Given the description of an element on the screen output the (x, y) to click on. 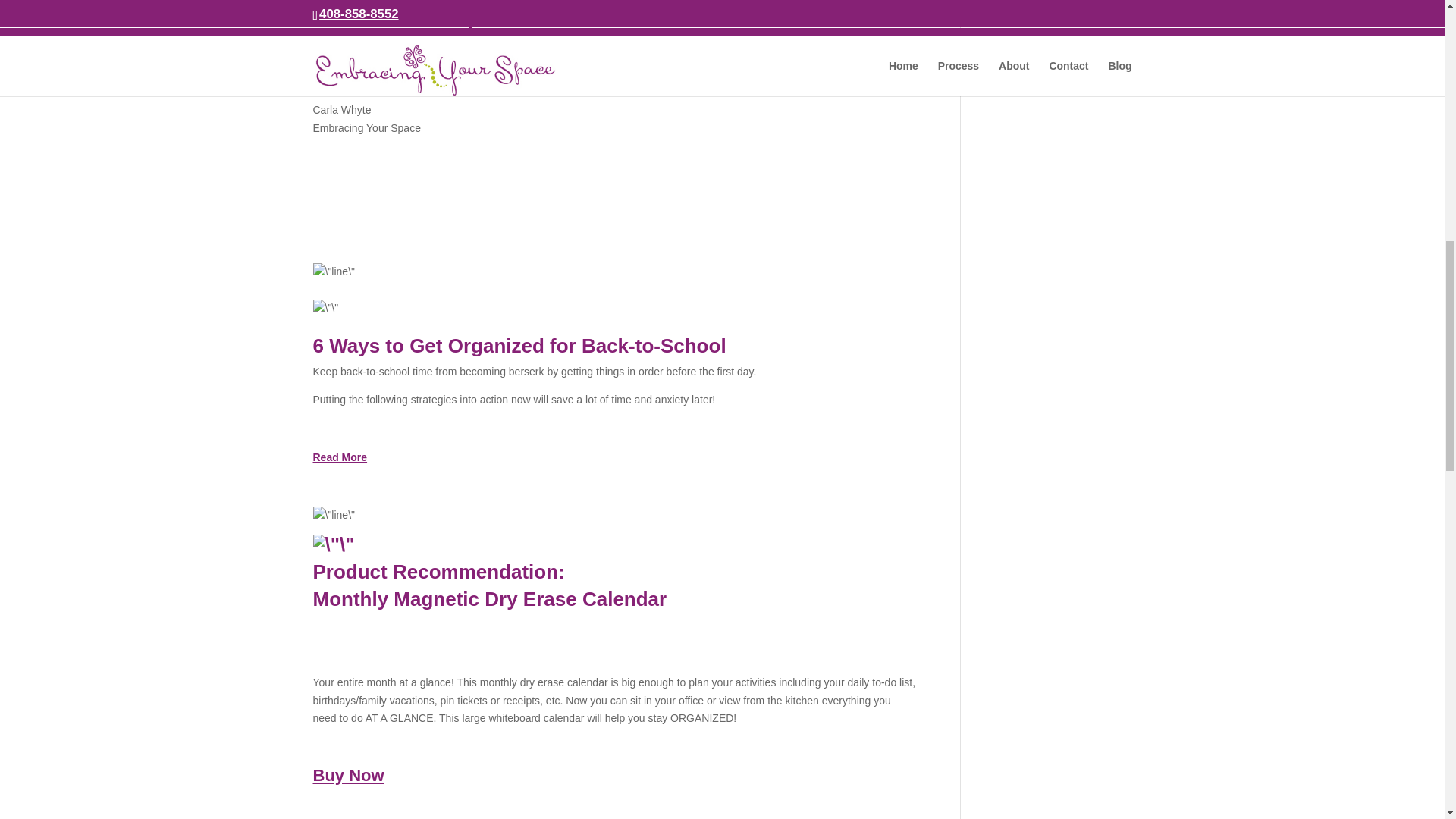
Read More (339, 457)
Buy Now (348, 774)
